Given the description of an element on the screen output the (x, y) to click on. 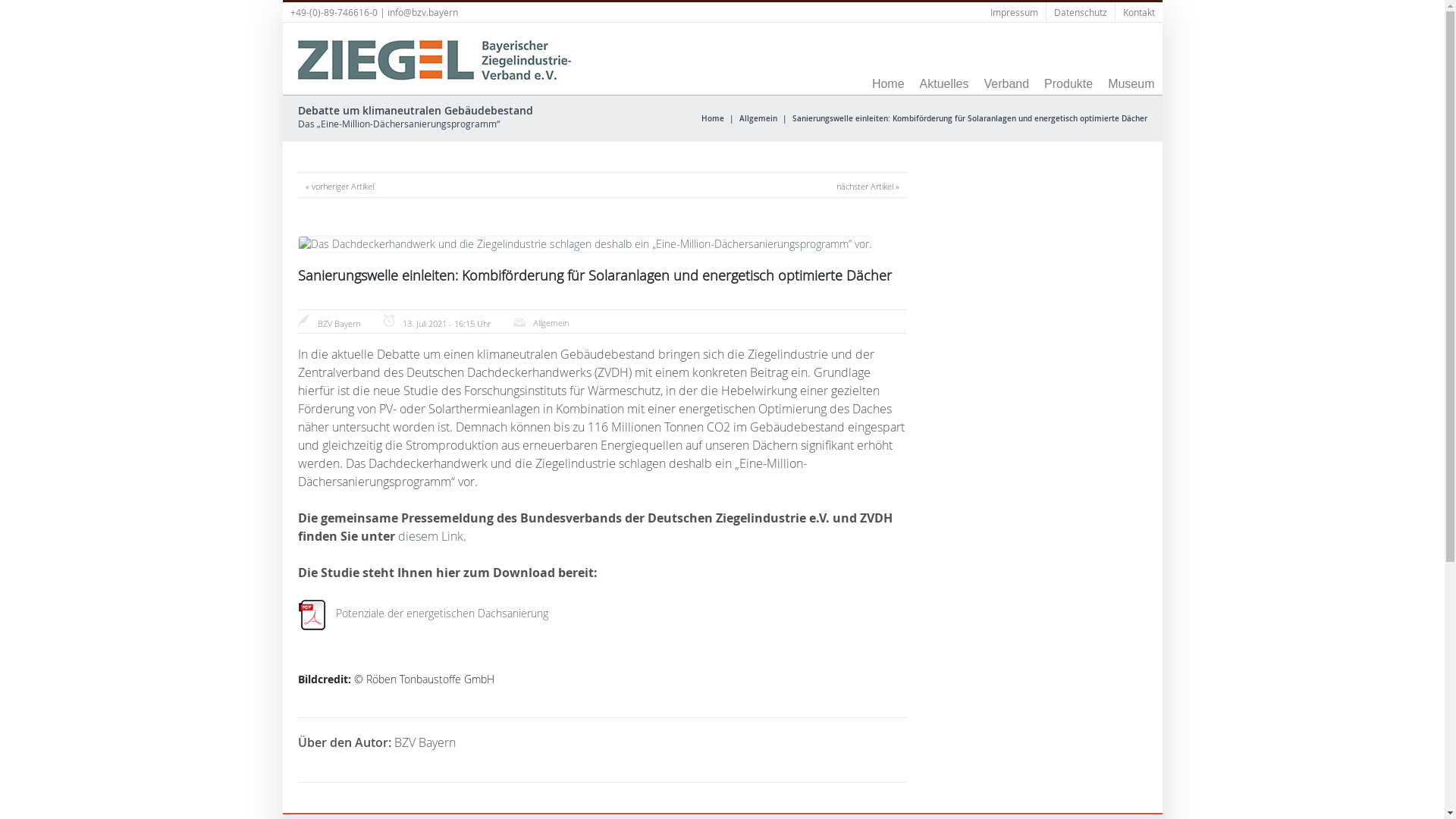
info@bzv.bayern Element type: text (421, 12)
Impressum Element type: text (1013, 11)
Allgemein Element type: text (757, 118)
Datenschutz Element type: text (1080, 11)
Allgemein Element type: text (549, 322)
Potenziale der energetischen Dachsanierung Element type: text (441, 612)
Home Element type: text (711, 118)
Aktuelles Element type: text (944, 84)
Produkte Element type: text (1068, 84)
BZV Bayern Element type: text (337, 323)
Museum Element type: text (1130, 84)
diesem Link Element type: text (429, 535)
Verband Element type: text (1005, 84)
Home Element type: text (888, 84)
Kontakt Element type: text (1137, 11)
